Given the description of an element on the screen output the (x, y) to click on. 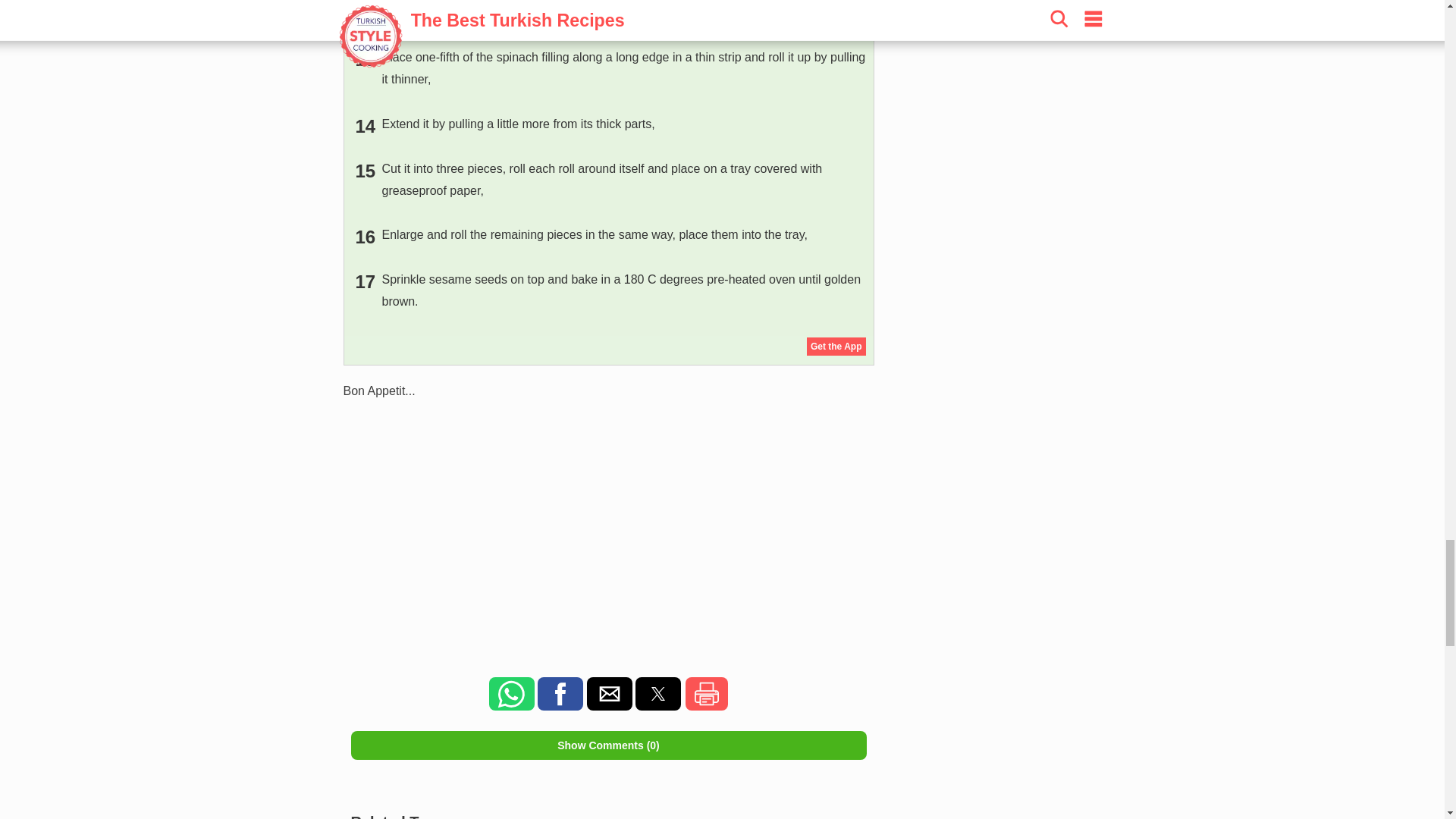
Get the App (836, 346)
